Given the description of an element on the screen output the (x, y) to click on. 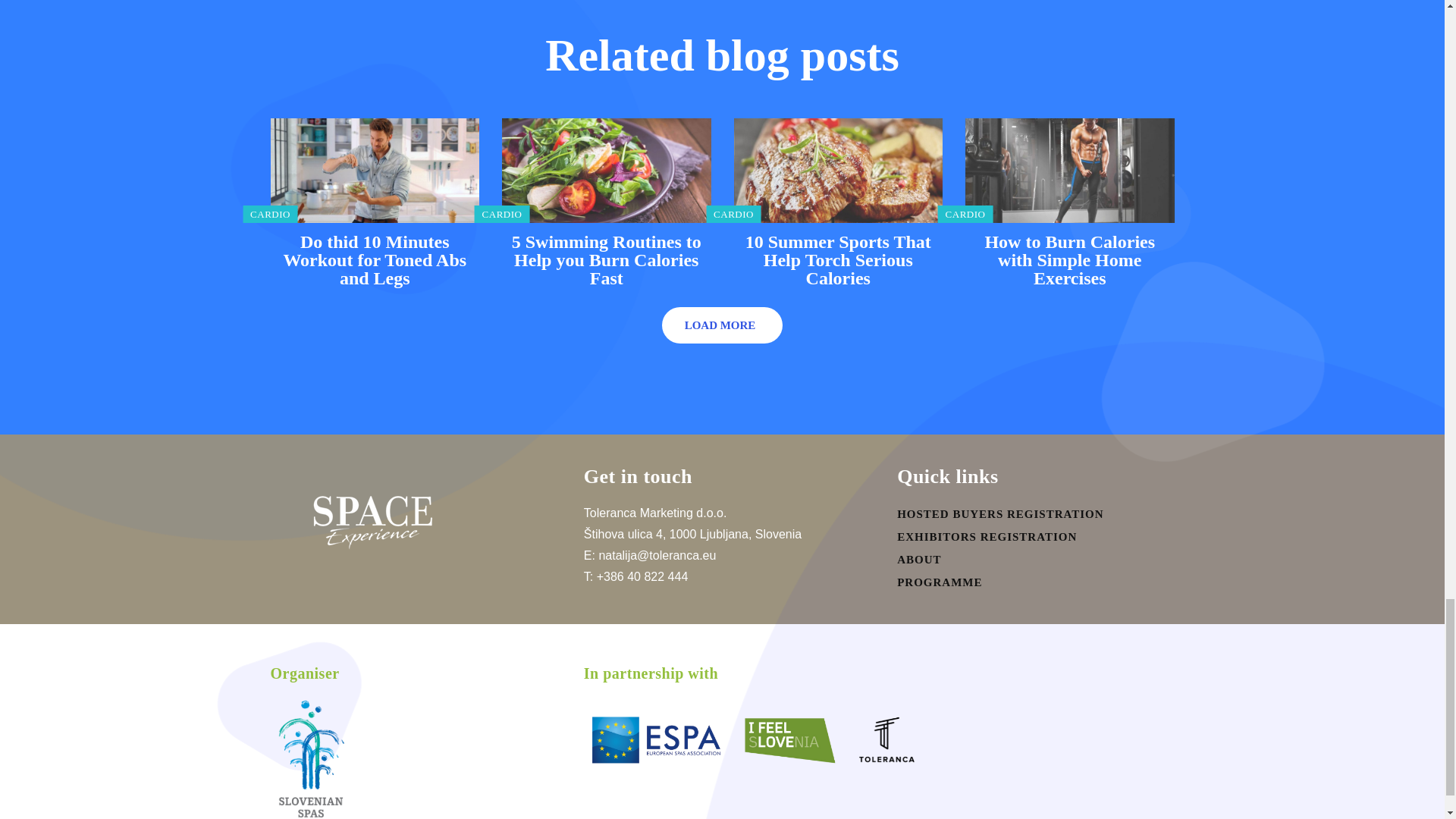
5 Swimming Routines to Help you Burn Calories Fast (606, 259)
10 Summer Sports That Help Torch Serious Calories (838, 259)
10 Summer Sports That Help Torch Serious Calories (838, 169)
Do thid 10 Minutes Workout for Toned Abs and Legs (373, 259)
5 Swimming Routines to Help you Burn Calories Fast (606, 169)
Do thid 10 Minutes Workout for Toned Abs and Legs (374, 169)
How to Burn Calories with Simple Home Exercises (1069, 169)
